Given the description of an element on the screen output the (x, y) to click on. 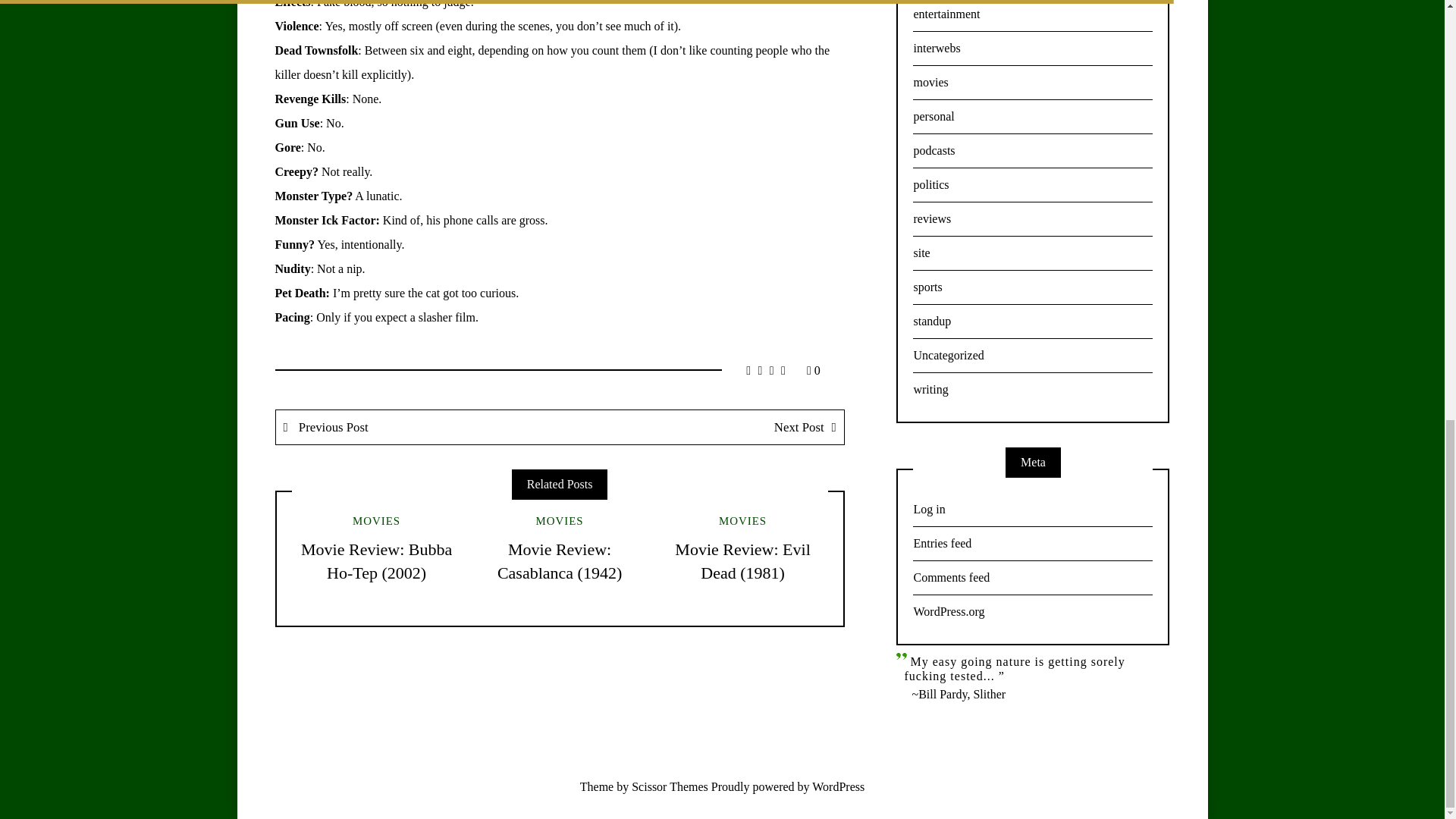
interwebs (1032, 48)
podcasts (1032, 151)
Next Post (701, 427)
movies (1032, 82)
Previous Post (418, 427)
0 (813, 369)
MOVIES (743, 521)
entertainment (1032, 15)
MOVIES (376, 521)
MOVIES (559, 521)
personal (1032, 116)
